Given the description of an element on the screen output the (x, y) to click on. 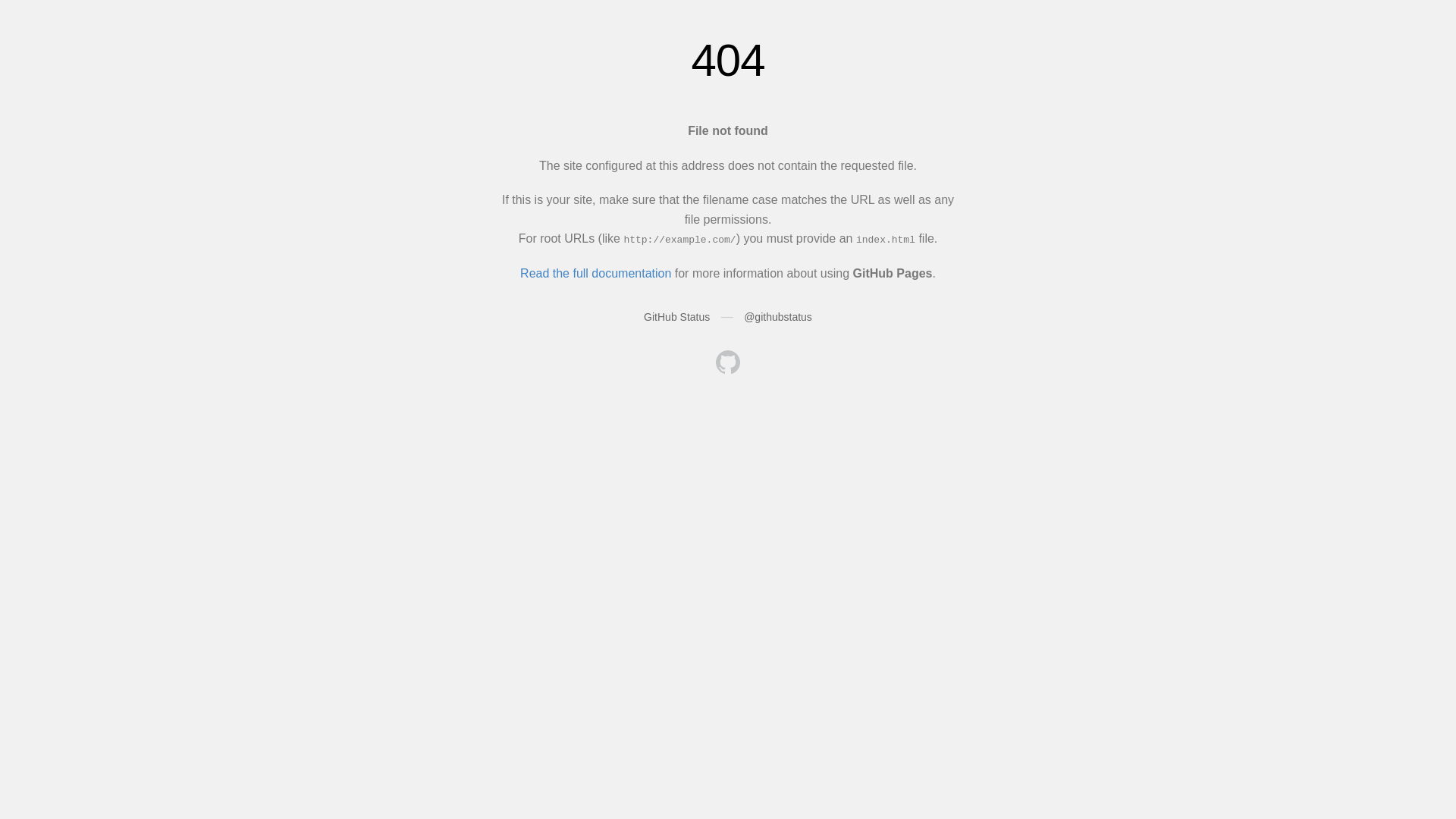
@githubstatus Element type: text (777, 316)
GitHub Status Element type: text (676, 316)
Read the full documentation Element type: text (595, 272)
